Given the description of an element on the screen output the (x, y) to click on. 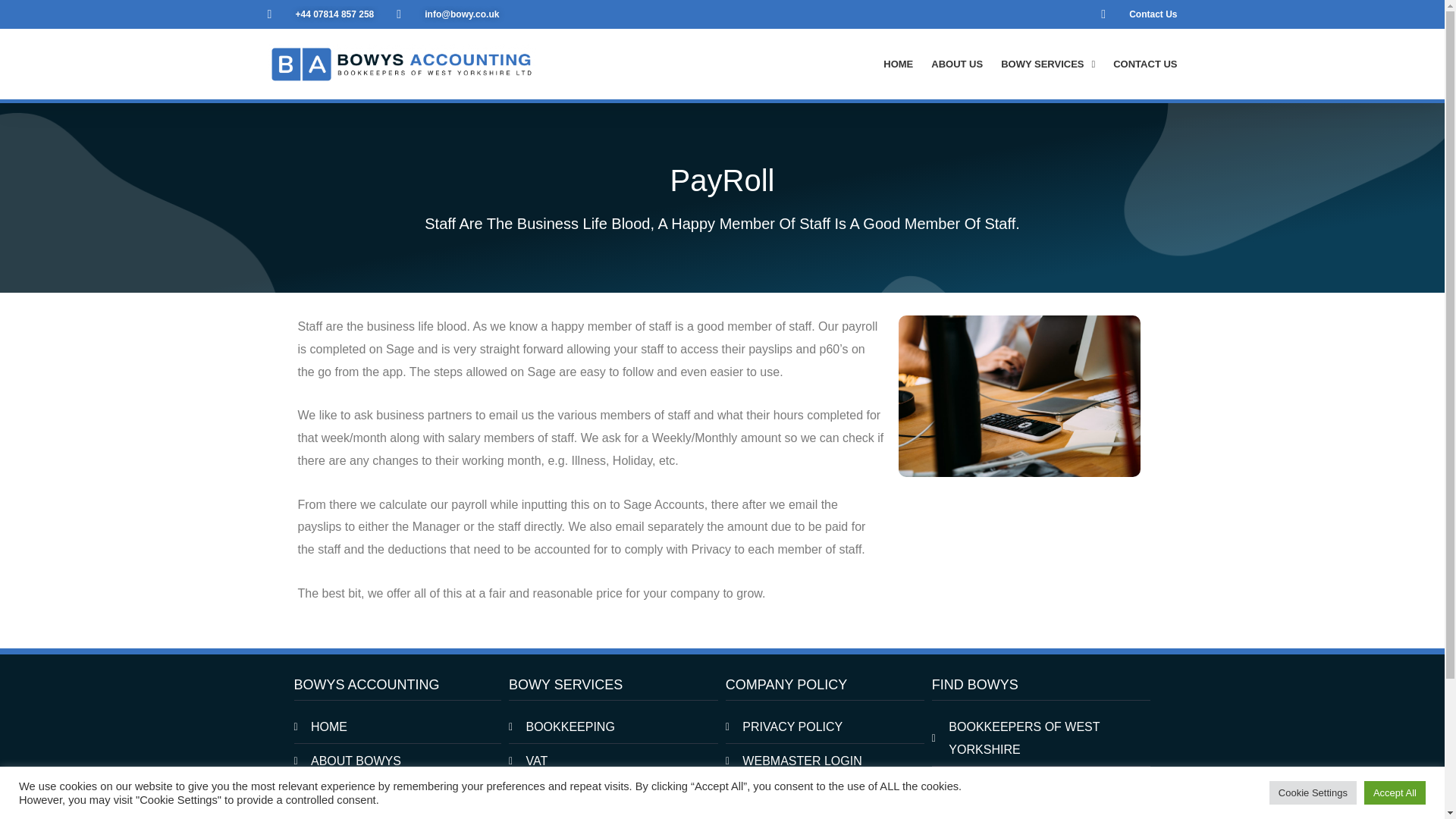
ABOUT US (956, 63)
Contact Us (1138, 13)
BOWY SERVICES (1047, 63)
CONTACT US (1144, 63)
